Given the description of an element on the screen output the (x, y) to click on. 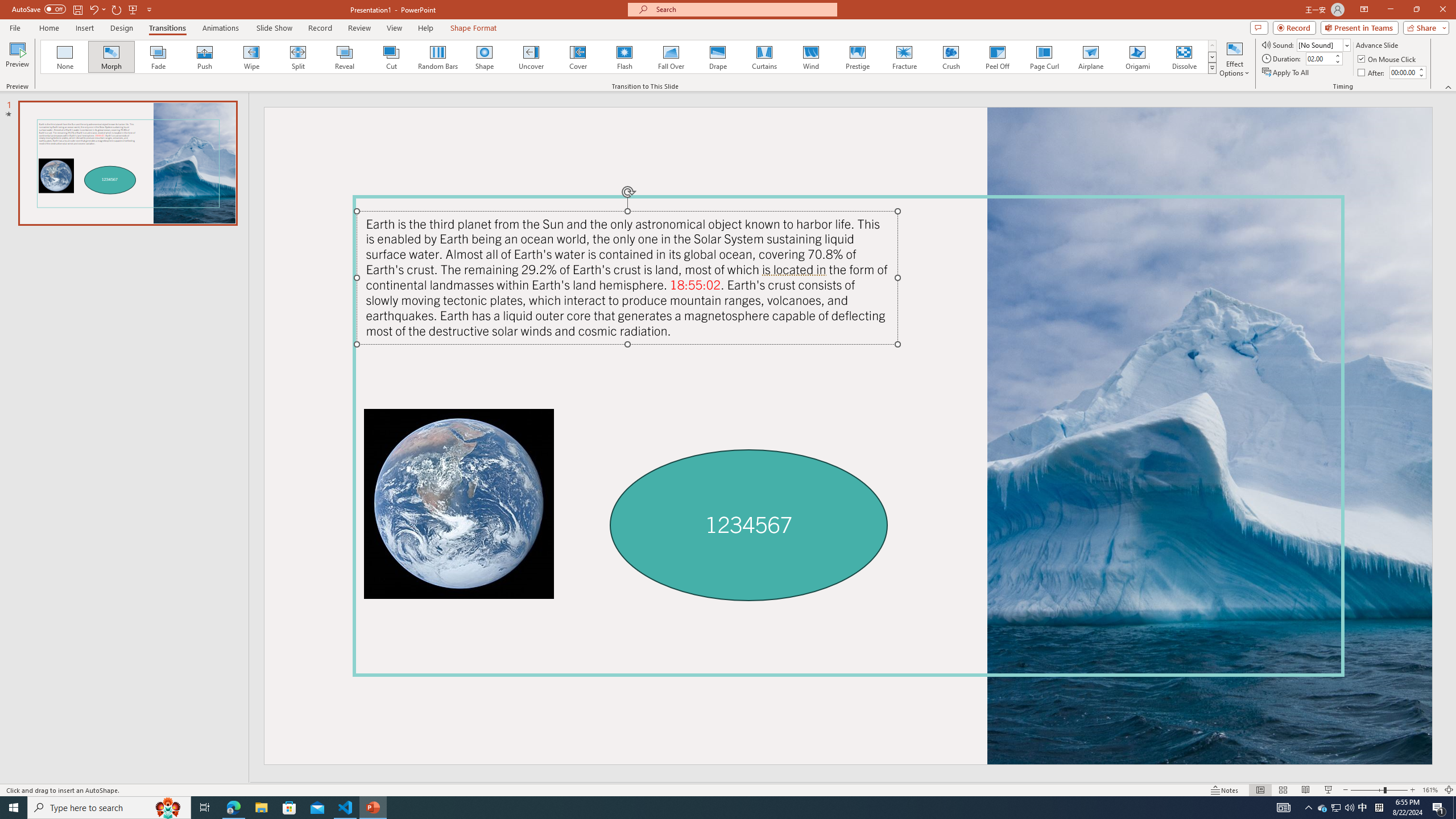
Transition Effects (1212, 67)
Peel Off (997, 56)
Prestige (857, 56)
Fall Over (670, 56)
